Given the description of an element on the screen output the (x, y) to click on. 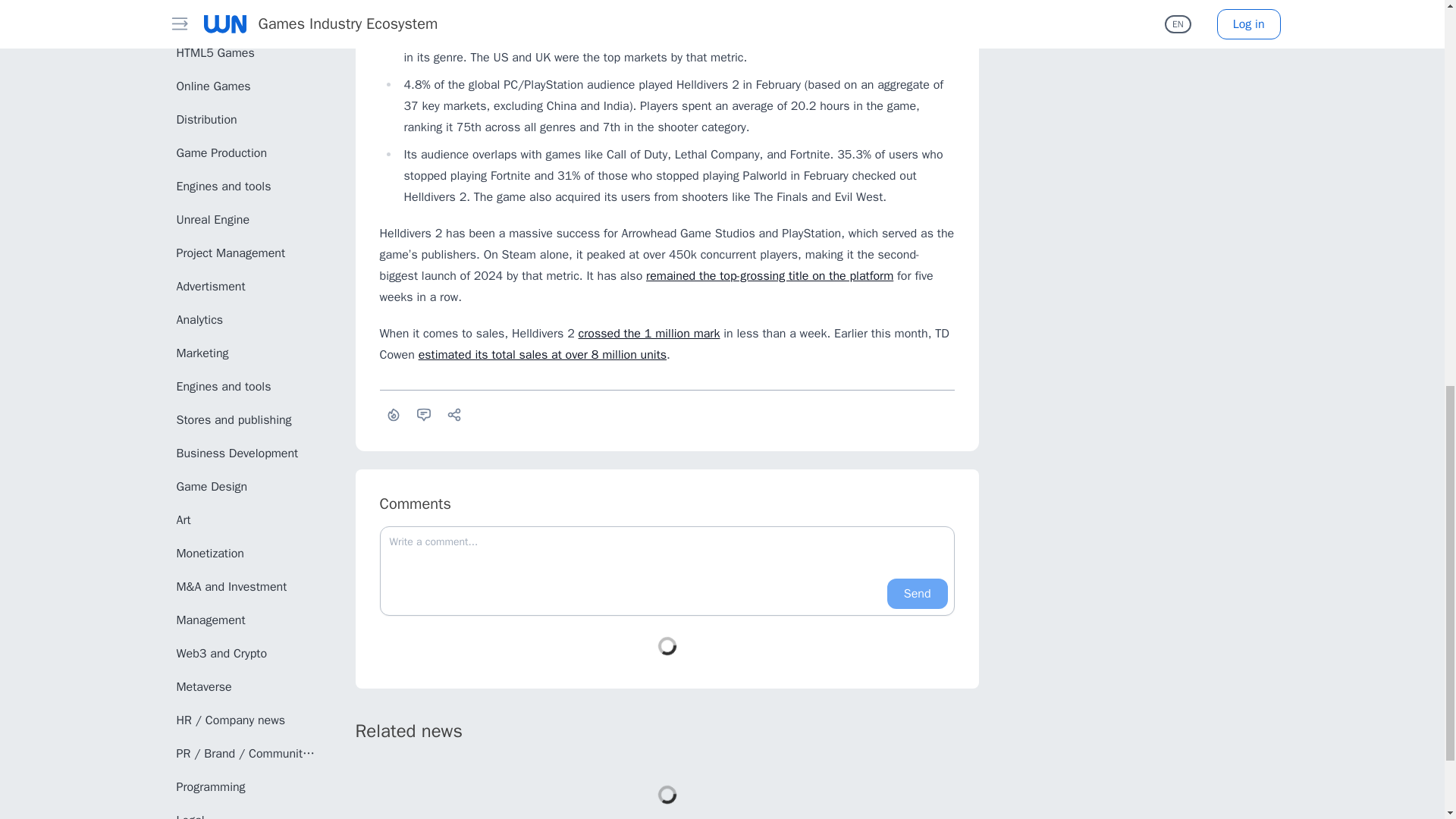
Engines and tools (246, 186)
HTML5 Games (246, 52)
Advertisment (246, 286)
Project Management (246, 253)
Marketing (246, 353)
Sound Design (246, 19)
Distribution (246, 119)
Share (453, 414)
Game Production (246, 153)
Likes (392, 414)
